Given the description of an element on the screen output the (x, y) to click on. 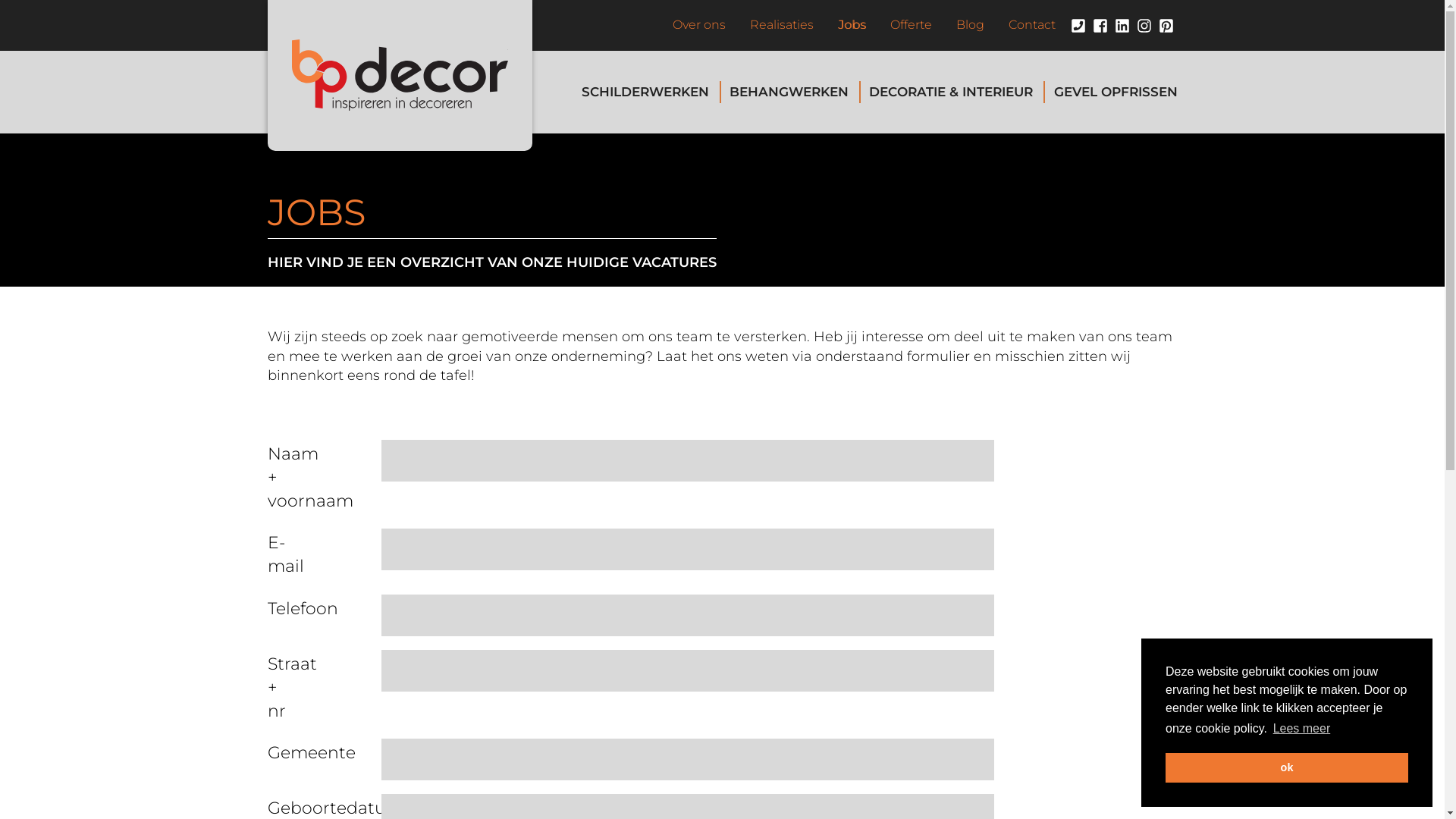
BP Decor Element type: text (399, 75)
DECORATIE & INTERIEUR Element type: text (951, 91)
GEVEL OPFRISSEN Element type: text (1110, 91)
Offerte Element type: text (911, 25)
Blog Element type: text (969, 25)
BEHANGWERKEN Element type: text (789, 91)
Contact Element type: text (1031, 25)
Jobs Element type: text (851, 25)
Lees meer Element type: text (1301, 728)
Over ons Element type: text (698, 25)
ok Element type: text (1286, 767)
Realisaties Element type: text (781, 25)
SCHILDERWERKEN Element type: text (644, 91)
